Given the description of an element on the screen output the (x, y) to click on. 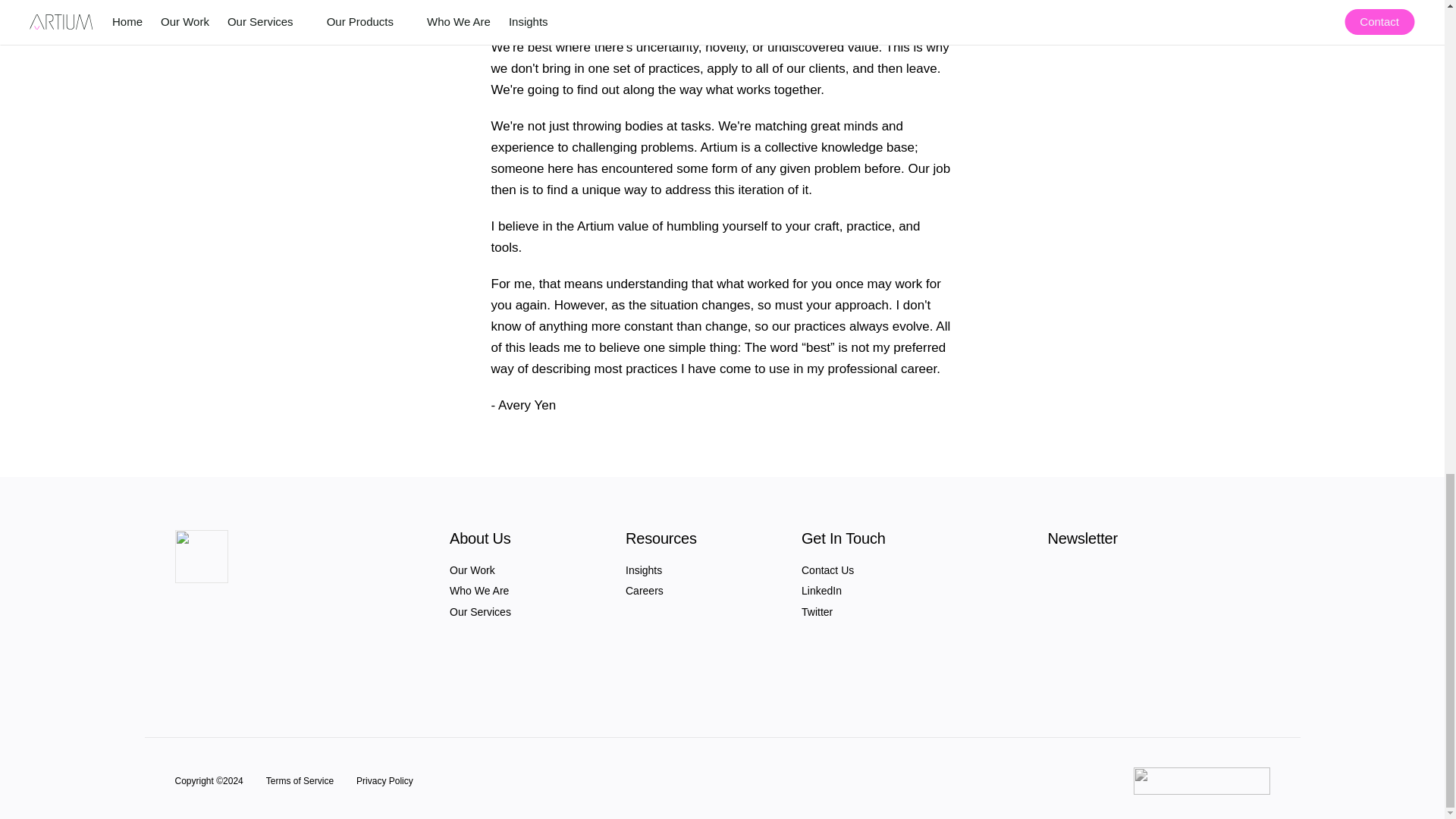
Insights (644, 570)
Our Work (472, 570)
Privacy Policy (384, 780)
Our Services (480, 612)
Contact Us (827, 570)
Who We Are (478, 590)
Terms of Service (299, 780)
LinkedIn (821, 590)
Twitter (817, 612)
Careers (644, 590)
